Given the description of an element on the screen output the (x, y) to click on. 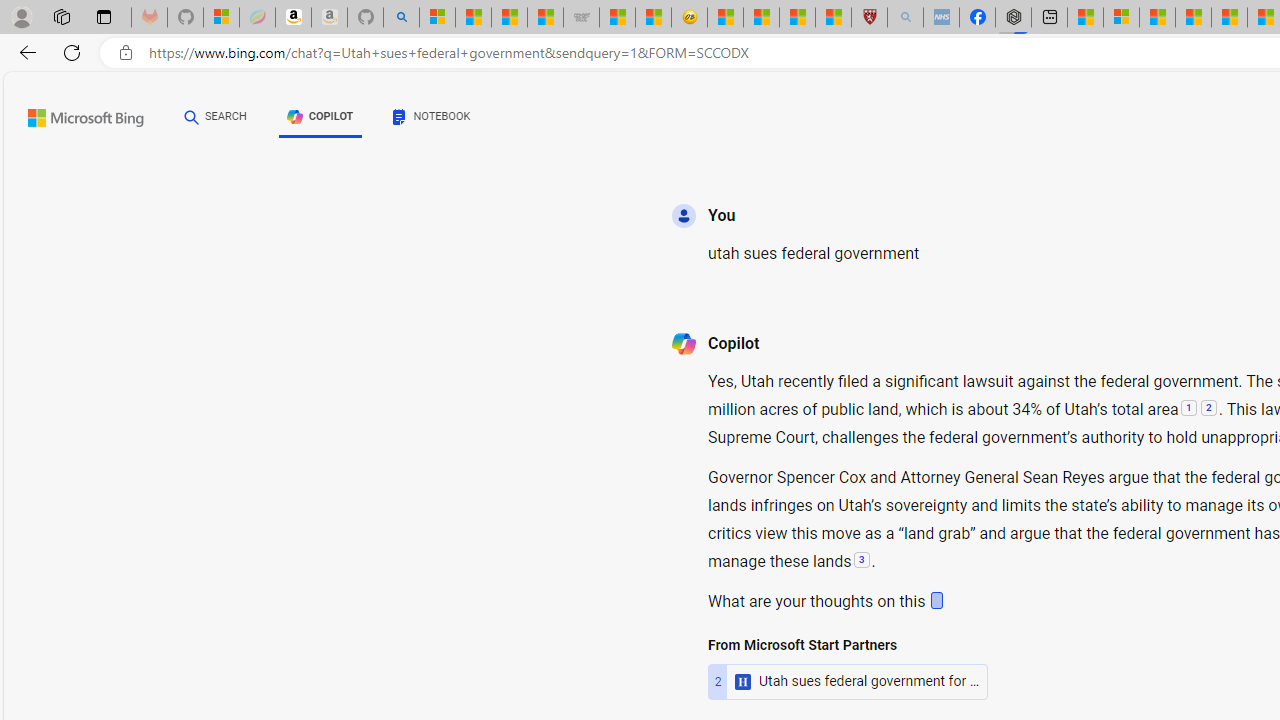
COPILOT (319, 116)
NOTEBOOK (431, 116)
SEARCH (215, 117)
NOTEBOOK (431, 120)
